Given the description of an element on the screen output the (x, y) to click on. 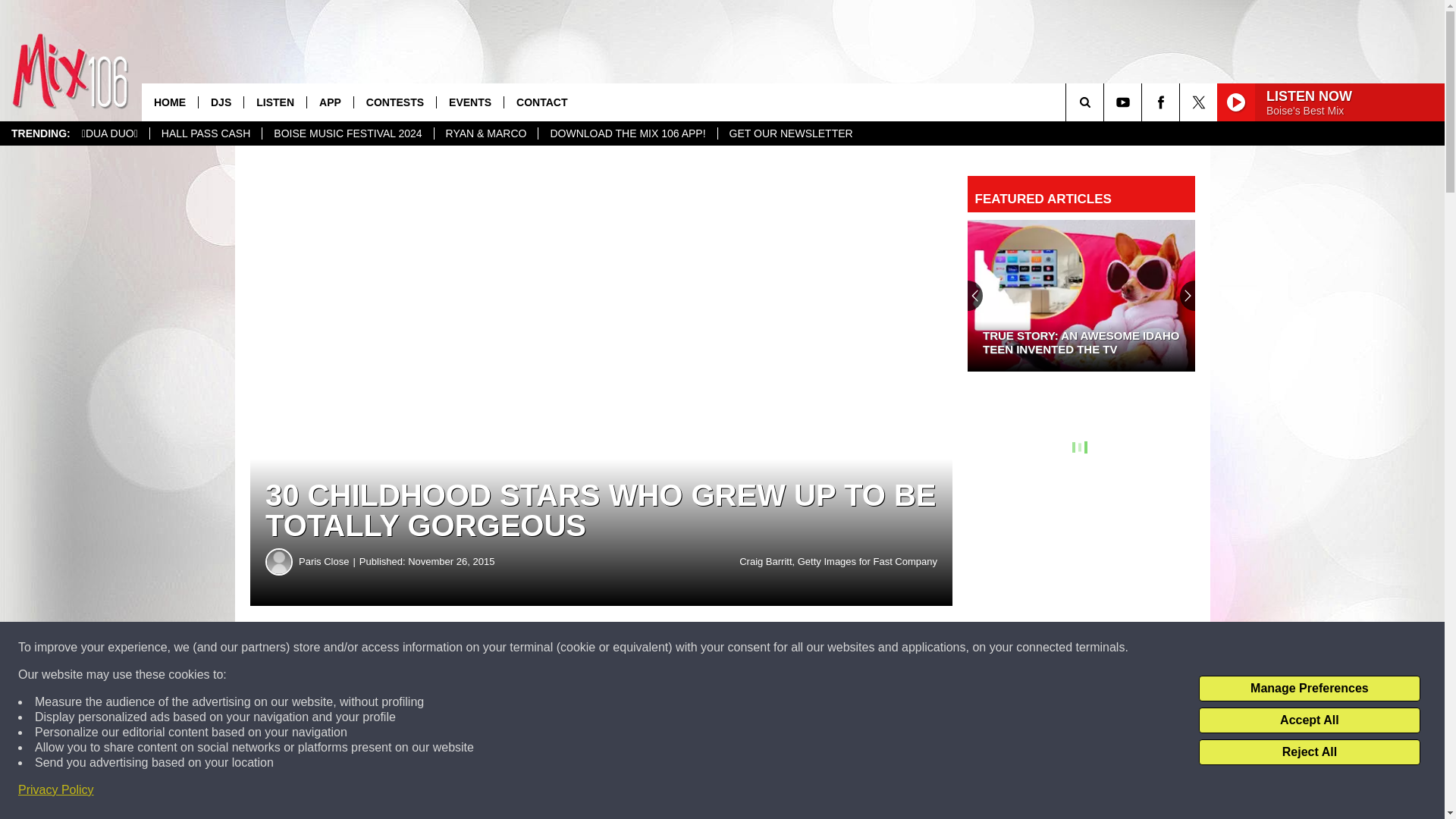
HOME (169, 102)
SEARCH (1106, 102)
Privacy Policy (55, 789)
LISTEN (274, 102)
DJS (220, 102)
HALL PASS CASH (205, 133)
GET OUR NEWSLETTER (790, 133)
Accept All (1309, 720)
SEARCH (1106, 102)
Reject All (1309, 751)
Share on Twitter (741, 647)
Manage Preferences (1309, 688)
EVENTS (469, 102)
DOWNLOAD THE MIX 106 APP! (626, 133)
APP (329, 102)
